Given the description of an element on the screen output the (x, y) to click on. 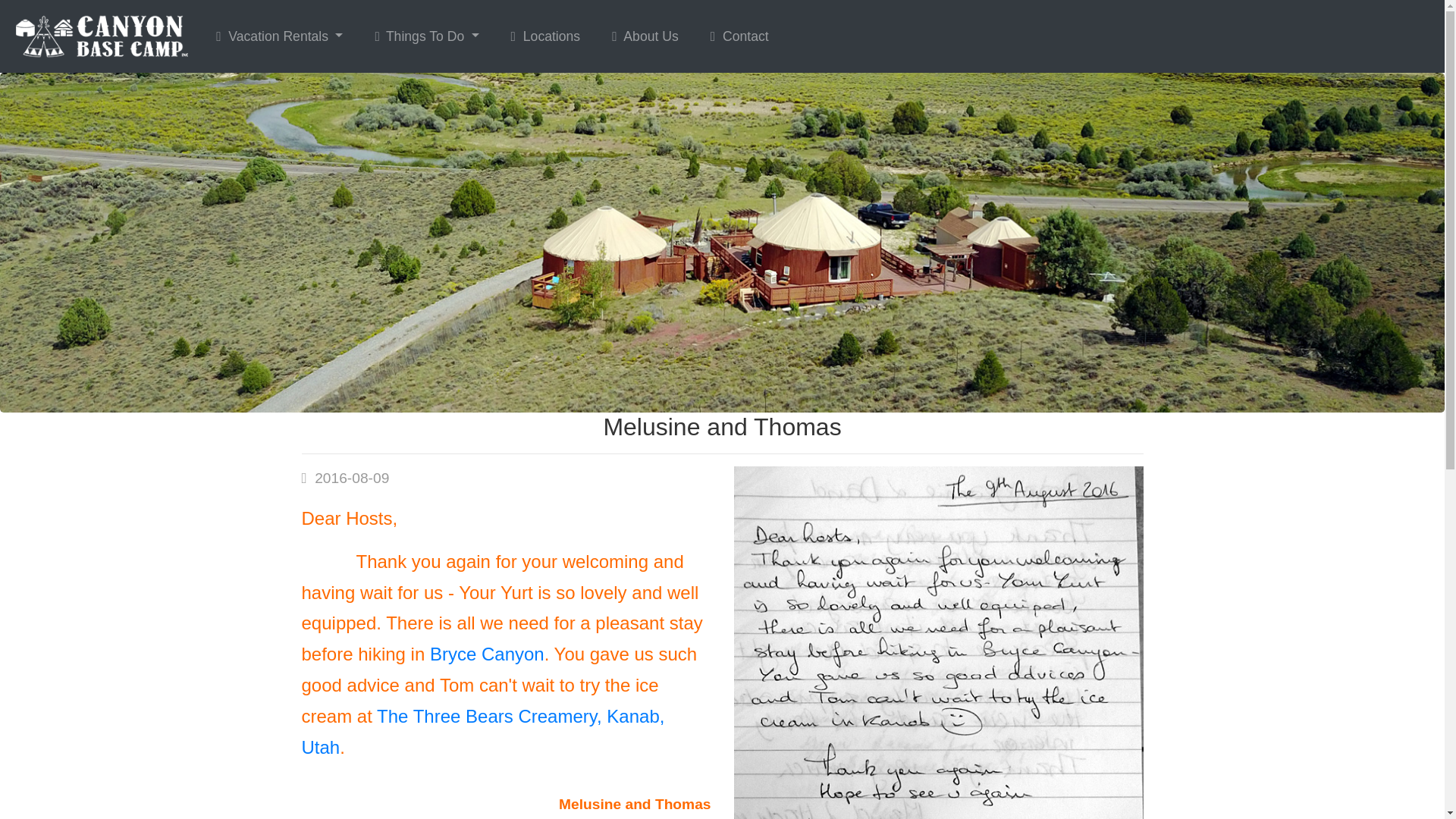
  Locations (545, 36)
The Three Bears Creamery, Kanab, Utah (483, 731)
About Us (644, 36)
Things To Do (426, 36)
Where we are located. (545, 36)
  Vacation Rentals (279, 36)
  About Us (644, 36)
  Contact (739, 36)
Bryce Canyon (486, 653)
How to Contact Us (739, 36)
